Given the description of an element on the screen output the (x, y) to click on. 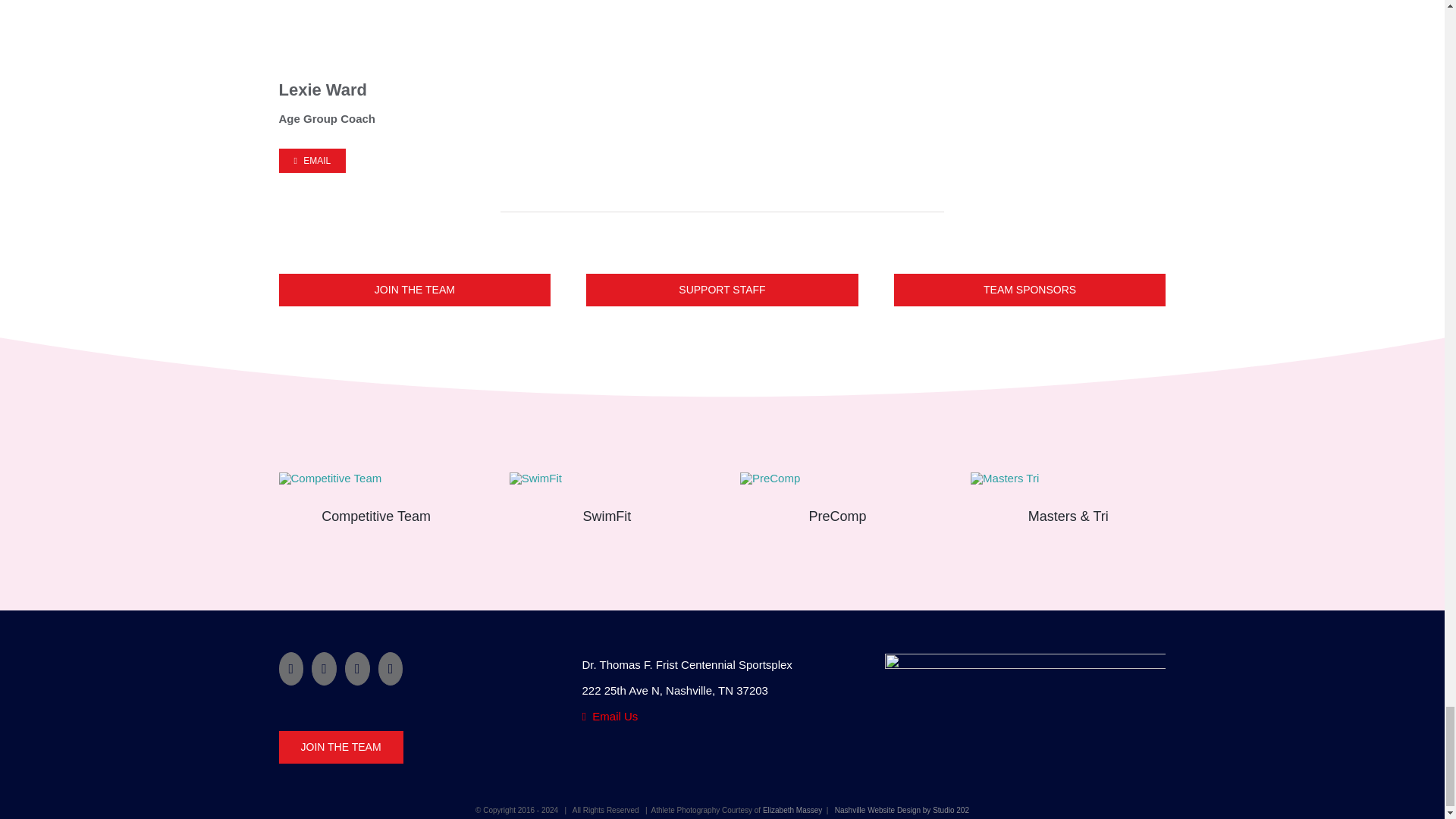
TEAM SPONSORS (1029, 289)
SUPPORT STAFF (722, 289)
JOIN THE TEAM (415, 289)
EMAIL (312, 160)
